Given the description of an element on the screen output the (x, y) to click on. 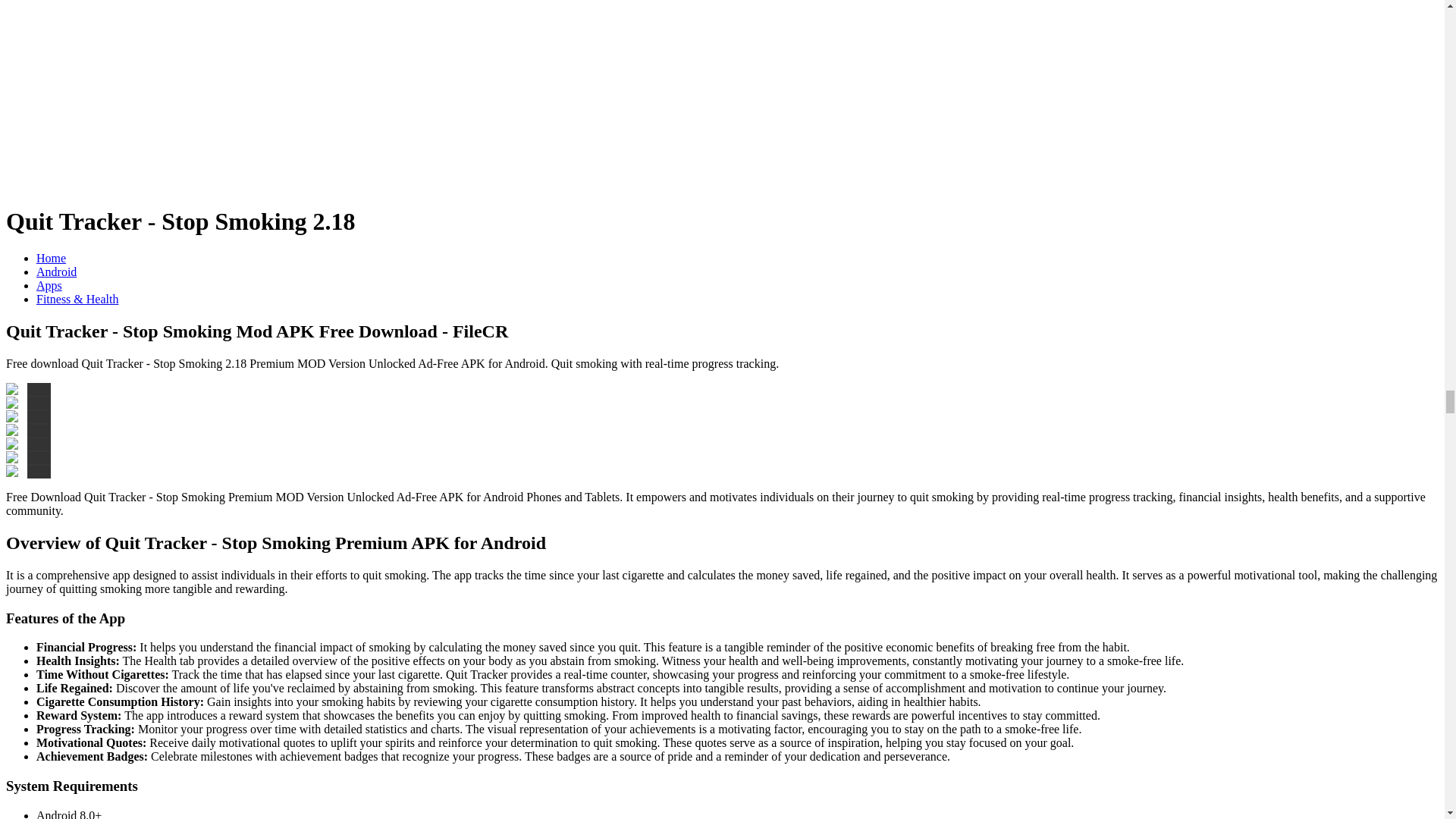
Home (50, 257)
Android (56, 271)
Apps (49, 285)
